Given the description of an element on the screen output the (x, y) to click on. 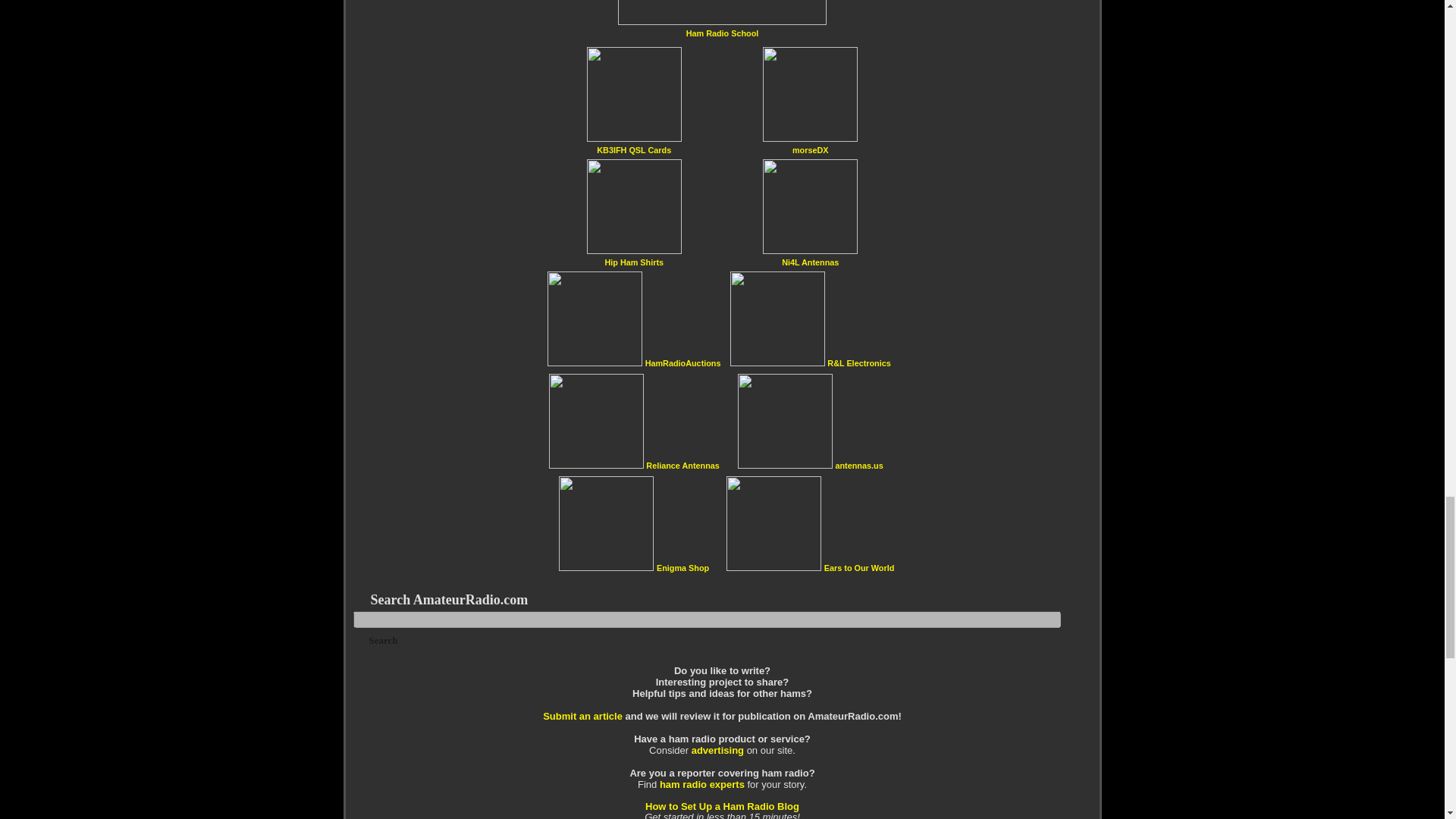
Enigma Shop (682, 567)
Reliance Antennas (682, 464)
Hip Ham Shirts (633, 261)
morseDX (810, 149)
HamRadioAuctions (682, 362)
KB3IFH QSL Cards (633, 149)
Ham Radio School (721, 32)
Search (383, 640)
